Given the description of an element on the screen output the (x, y) to click on. 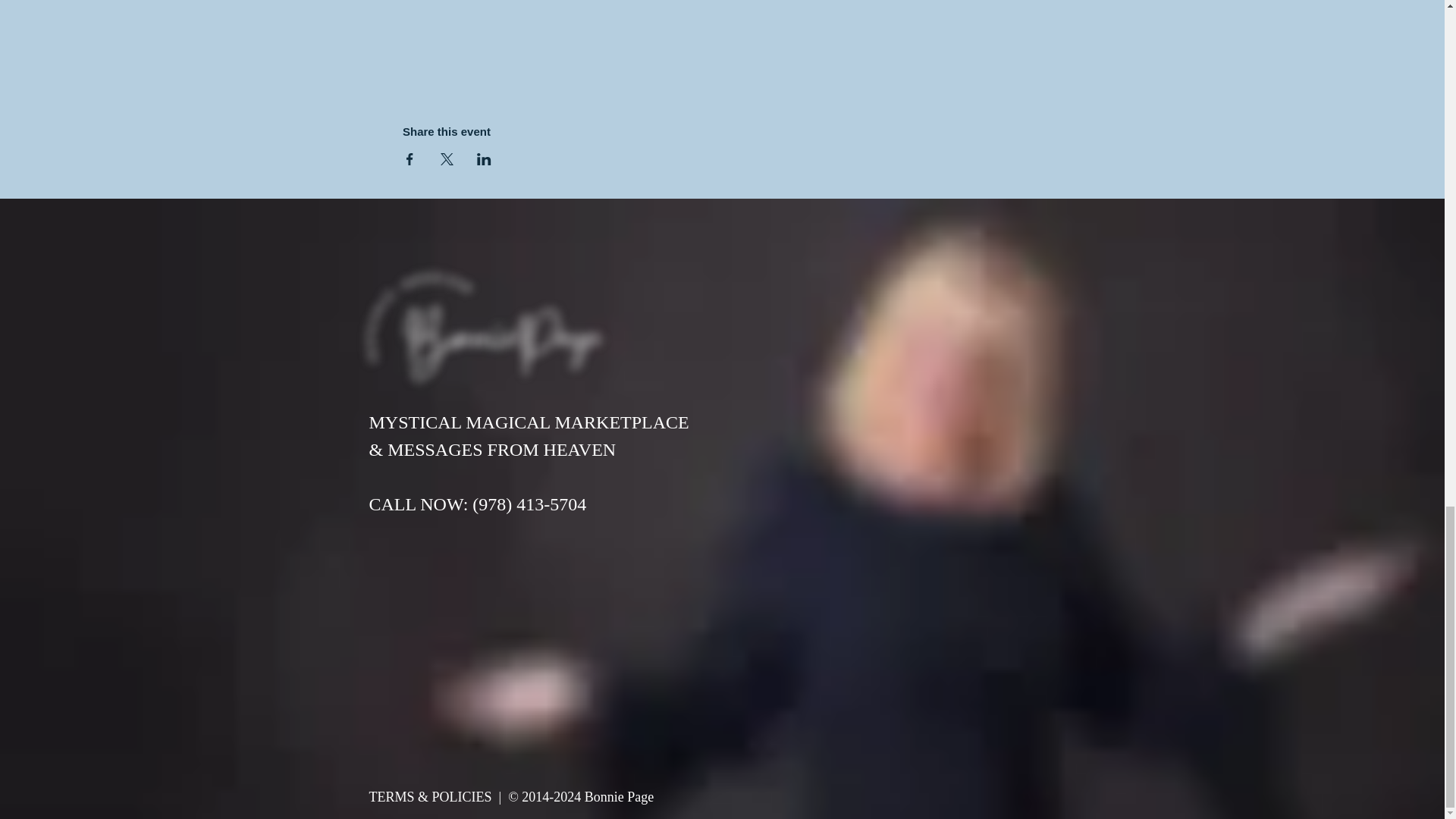
Map (721, 39)
